Given the description of an element on the screen output the (x, y) to click on. 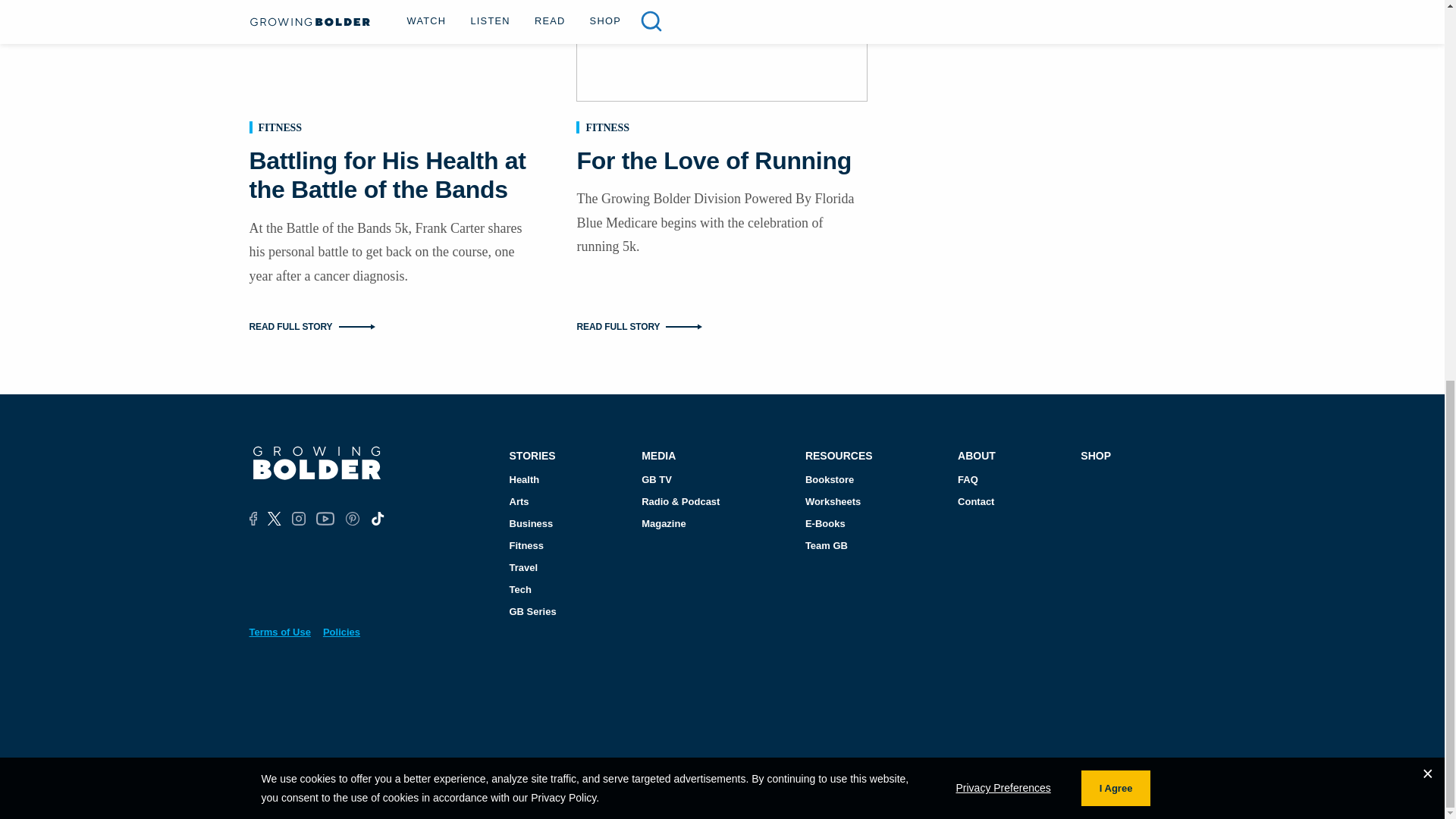
tiktok (376, 518)
x (274, 518)
Link to: Fitness (279, 127)
